Given the description of an element on the screen output the (x, y) to click on. 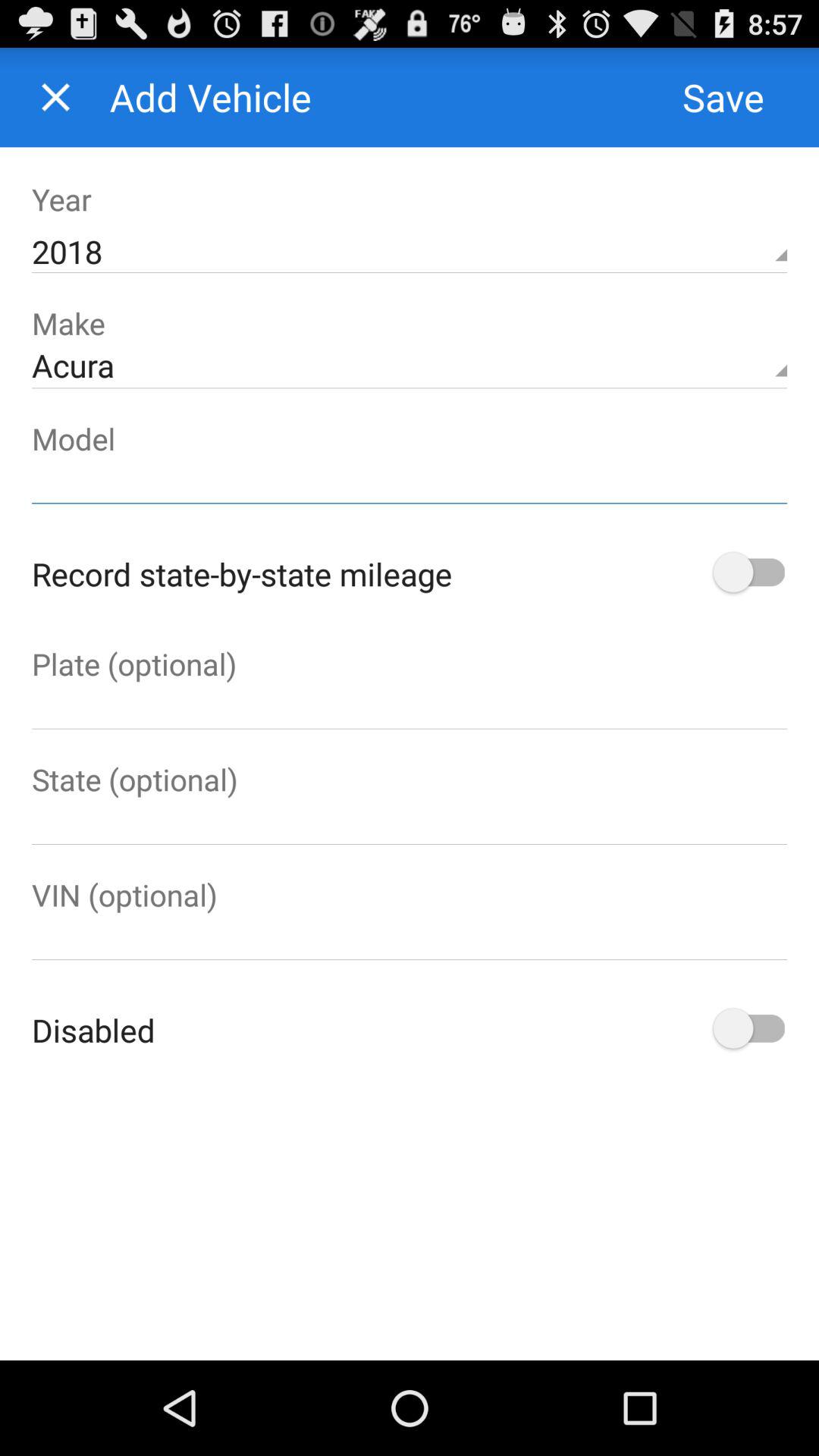
tun on state-by-state mileage (747, 573)
